Given the description of an element on the screen output the (x, y) to click on. 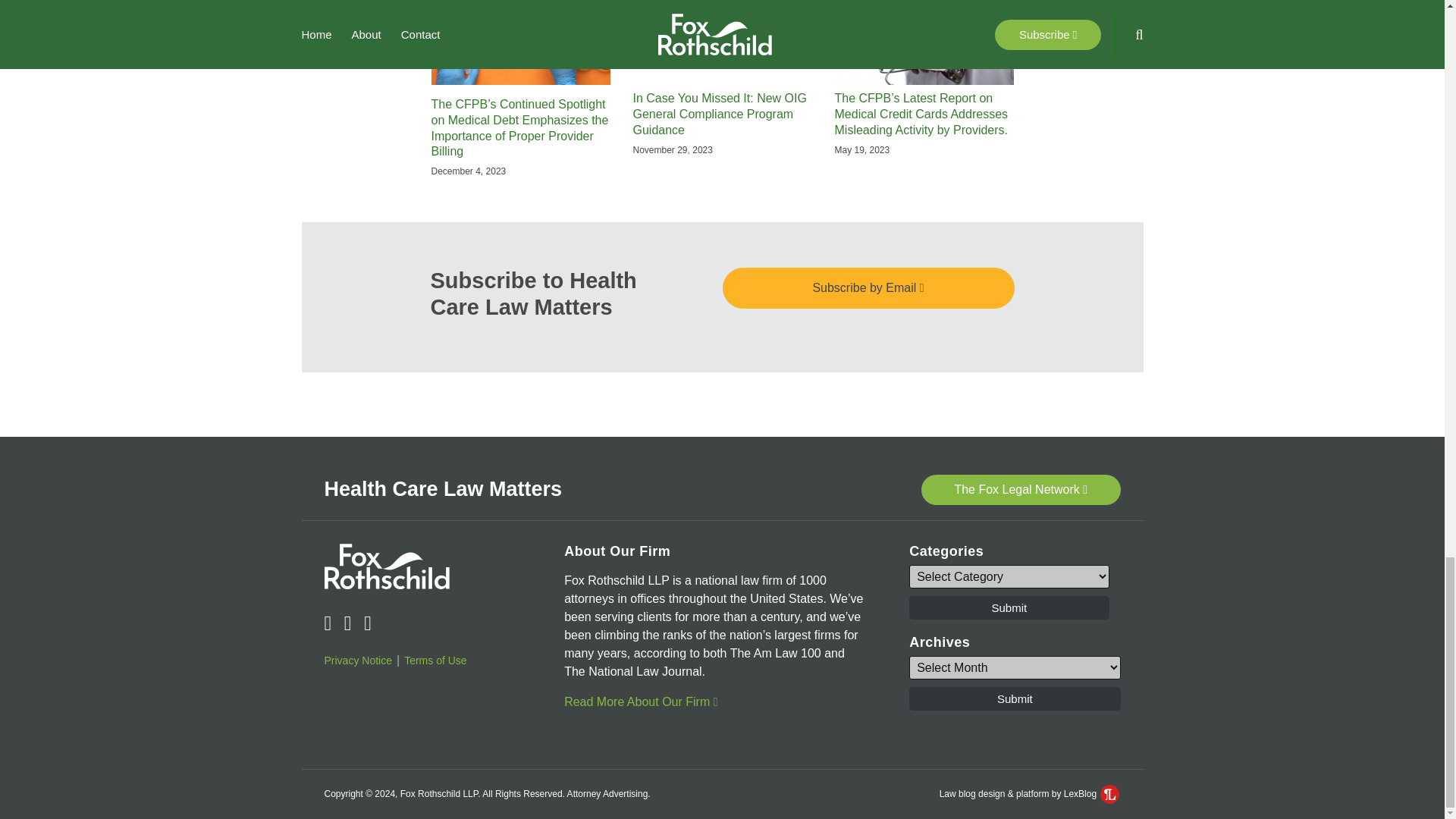
Submit (1013, 698)
LexBlog Logo (1109, 793)
Submit (1008, 607)
